Given the description of an element on the screen output the (x, y) to click on. 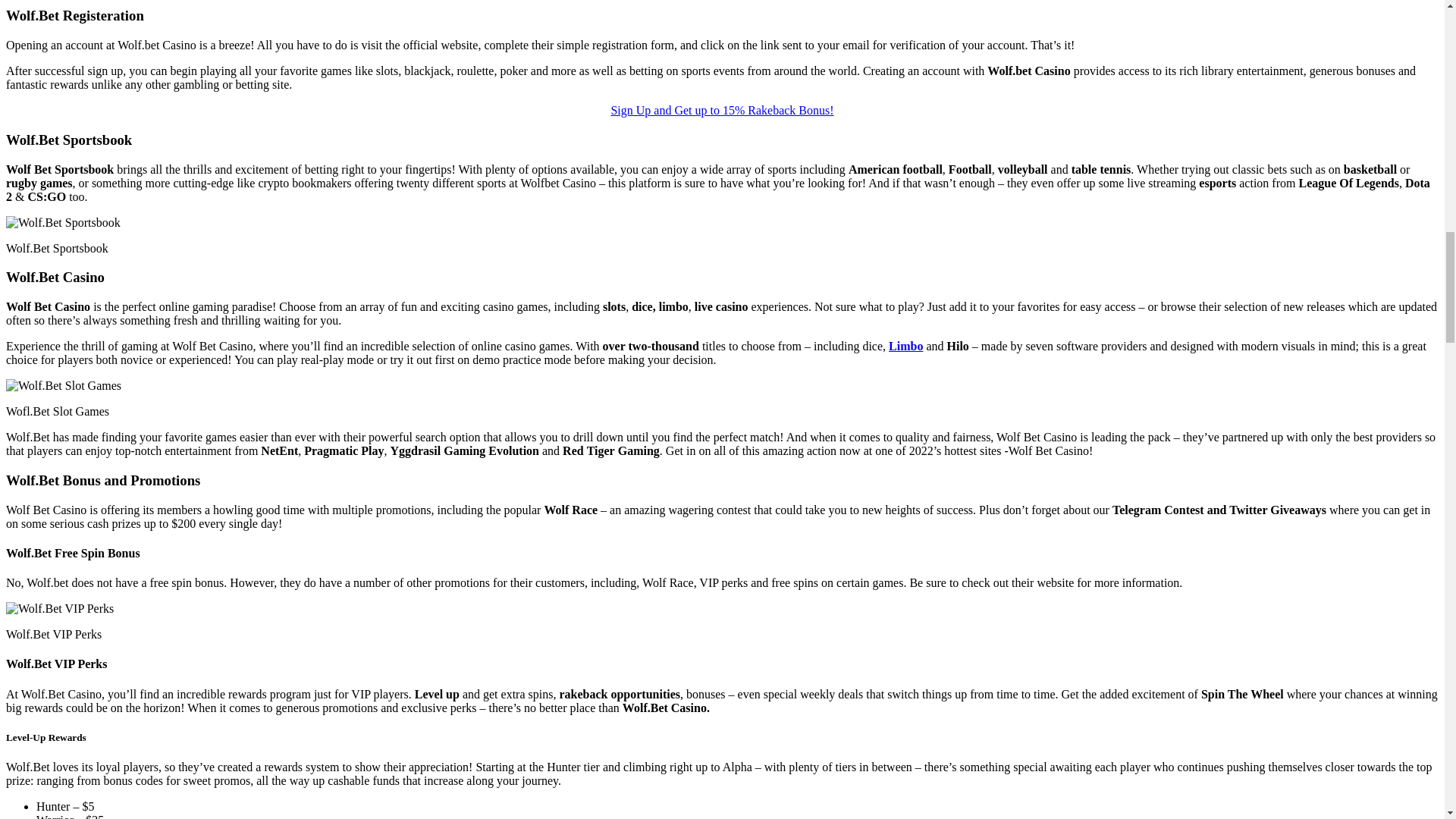
Limbo (905, 345)
